Given the description of an element on the screen output the (x, y) to click on. 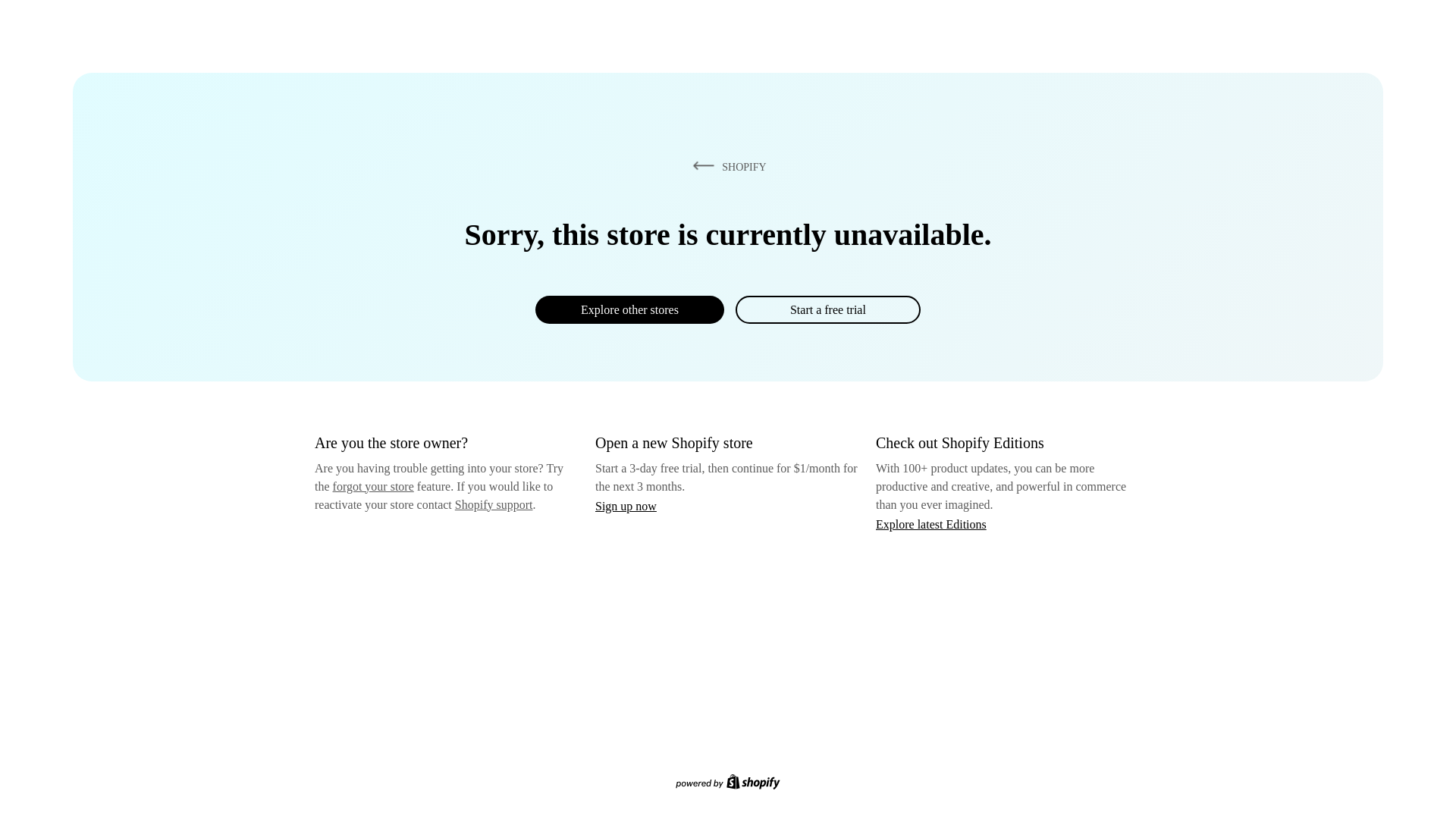
Explore latest Editions (931, 523)
SHOPIFY (726, 166)
Start a free trial (827, 309)
Shopify support (493, 504)
Sign up now (625, 505)
forgot your store (373, 486)
Explore other stores (629, 309)
